Given the description of an element on the screen output the (x, y) to click on. 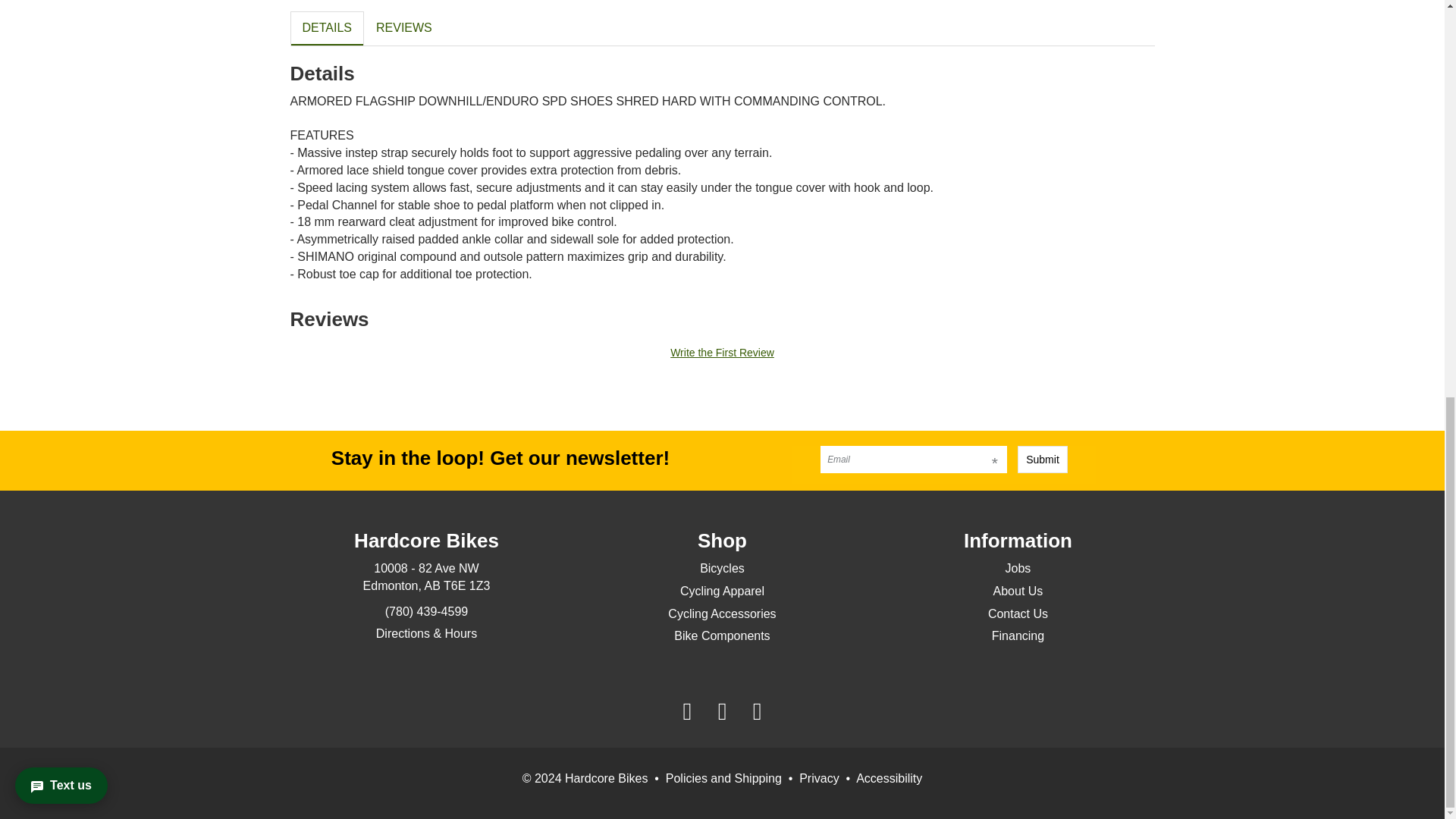
Submit (1042, 459)
Webchat Widget (79, 23)
